Given the description of an element on the screen output the (x, y) to click on. 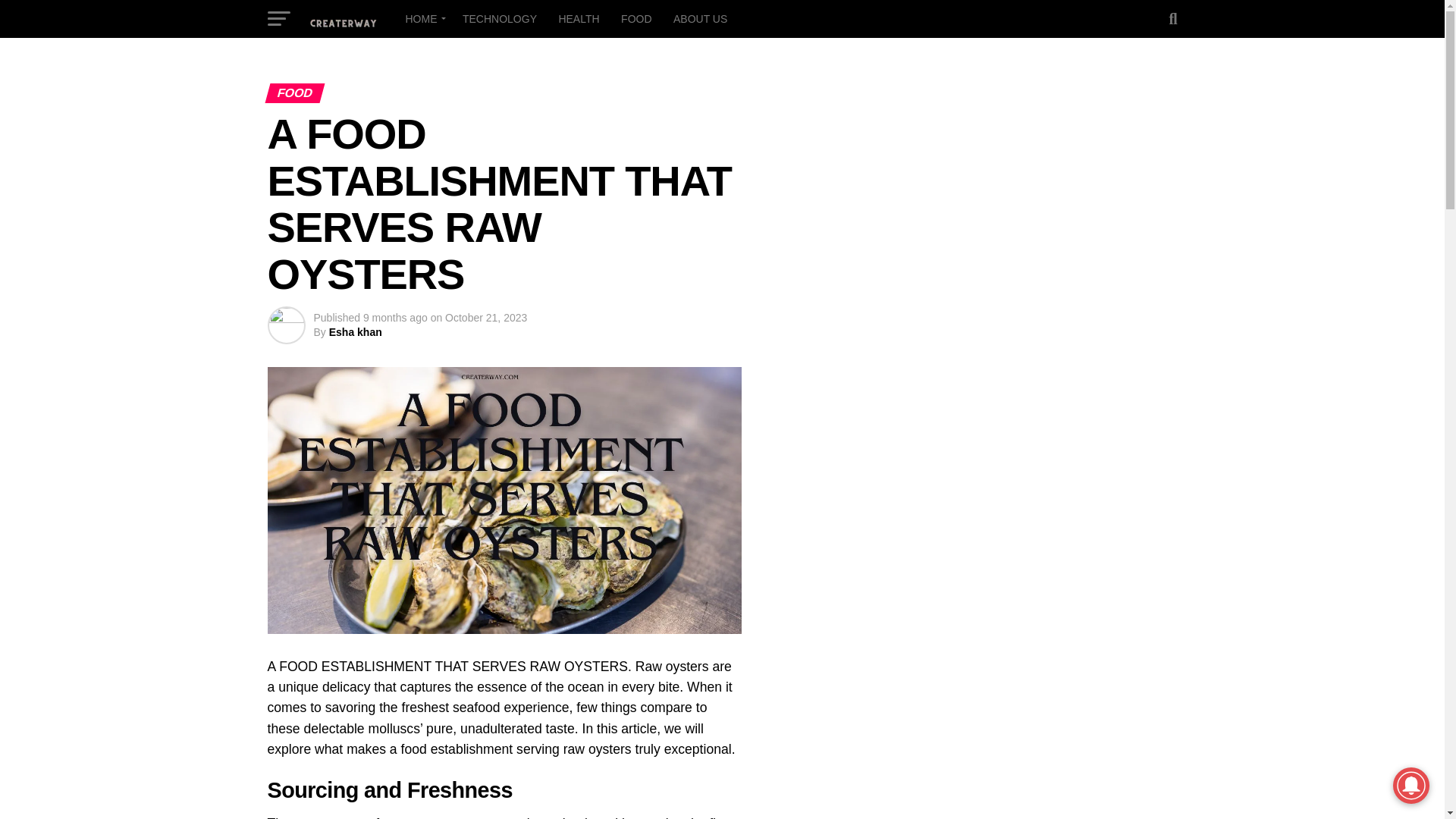
HOME (422, 18)
